Given the description of an element on the screen output the (x, y) to click on. 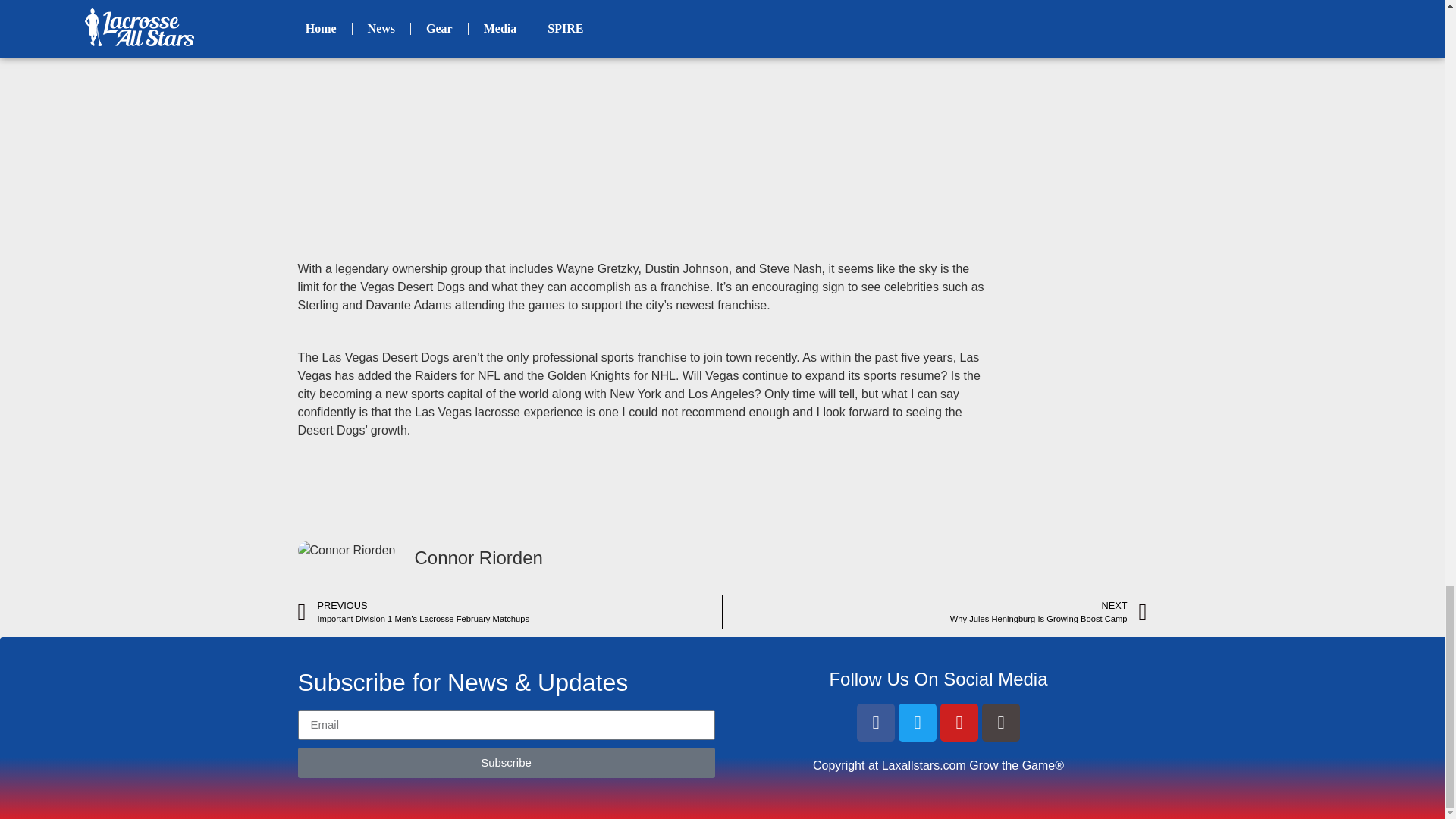
Game Recap - Philadelphia Wings vs Las Vegas Desert Dogs (1048, 612)
